Given the description of an element on the screen output the (x, y) to click on. 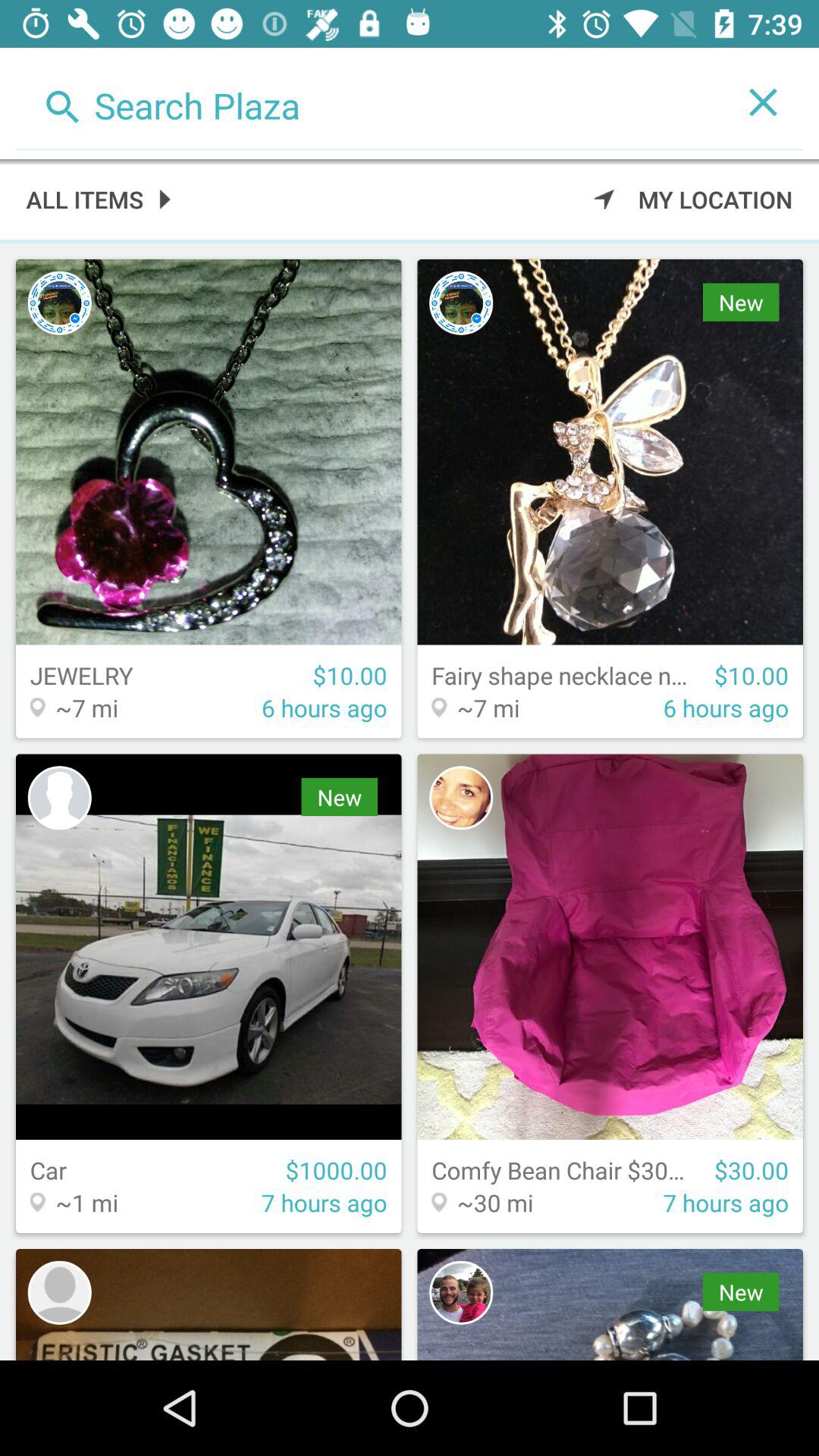
go to seller profile (59, 1292)
